Given the description of an element on the screen output the (x, y) to click on. 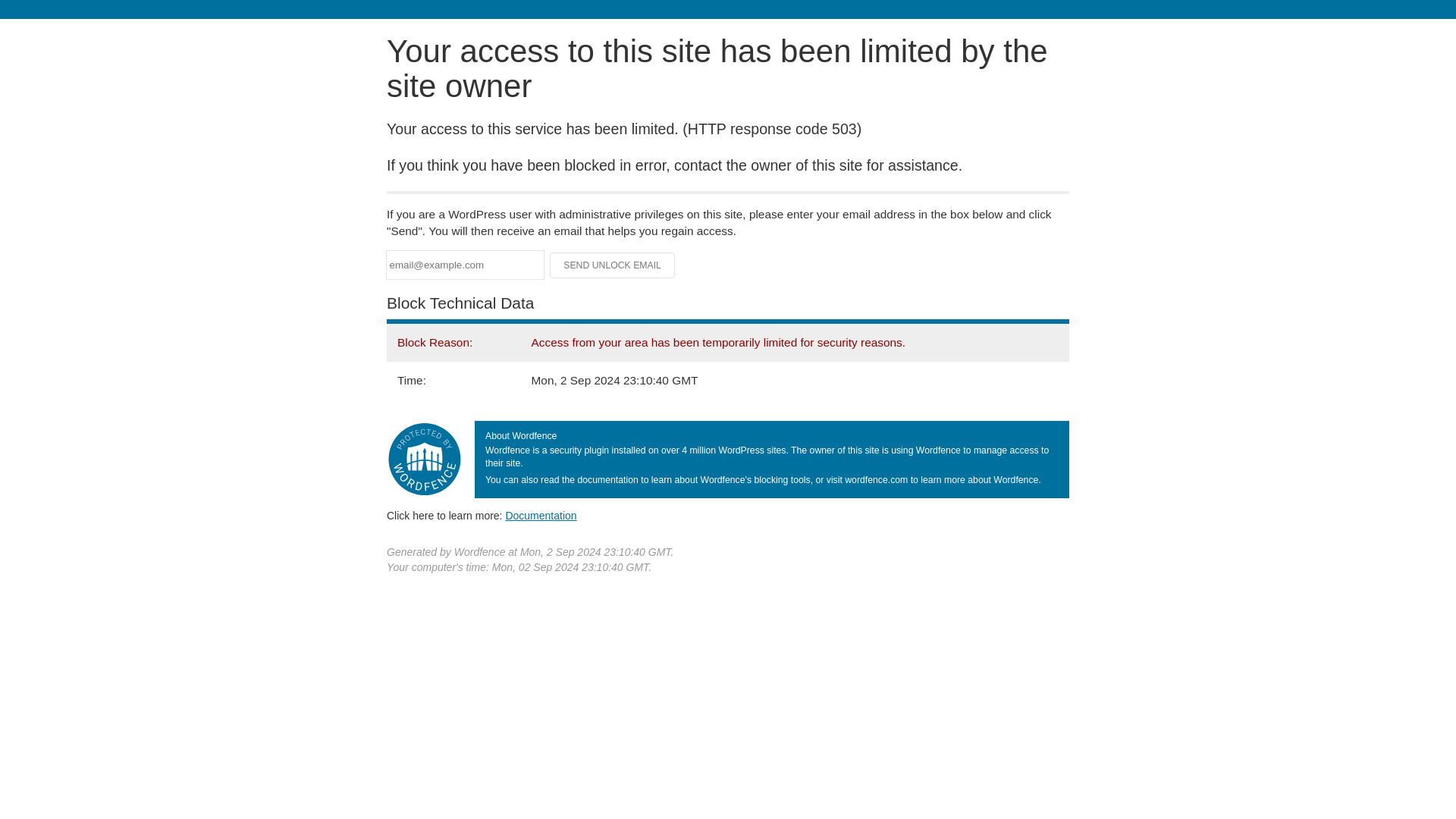
Send Unlock Email (612, 265)
Send Unlock Email (612, 265)
Documentation (540, 515)
